Given the description of an element on the screen output the (x, y) to click on. 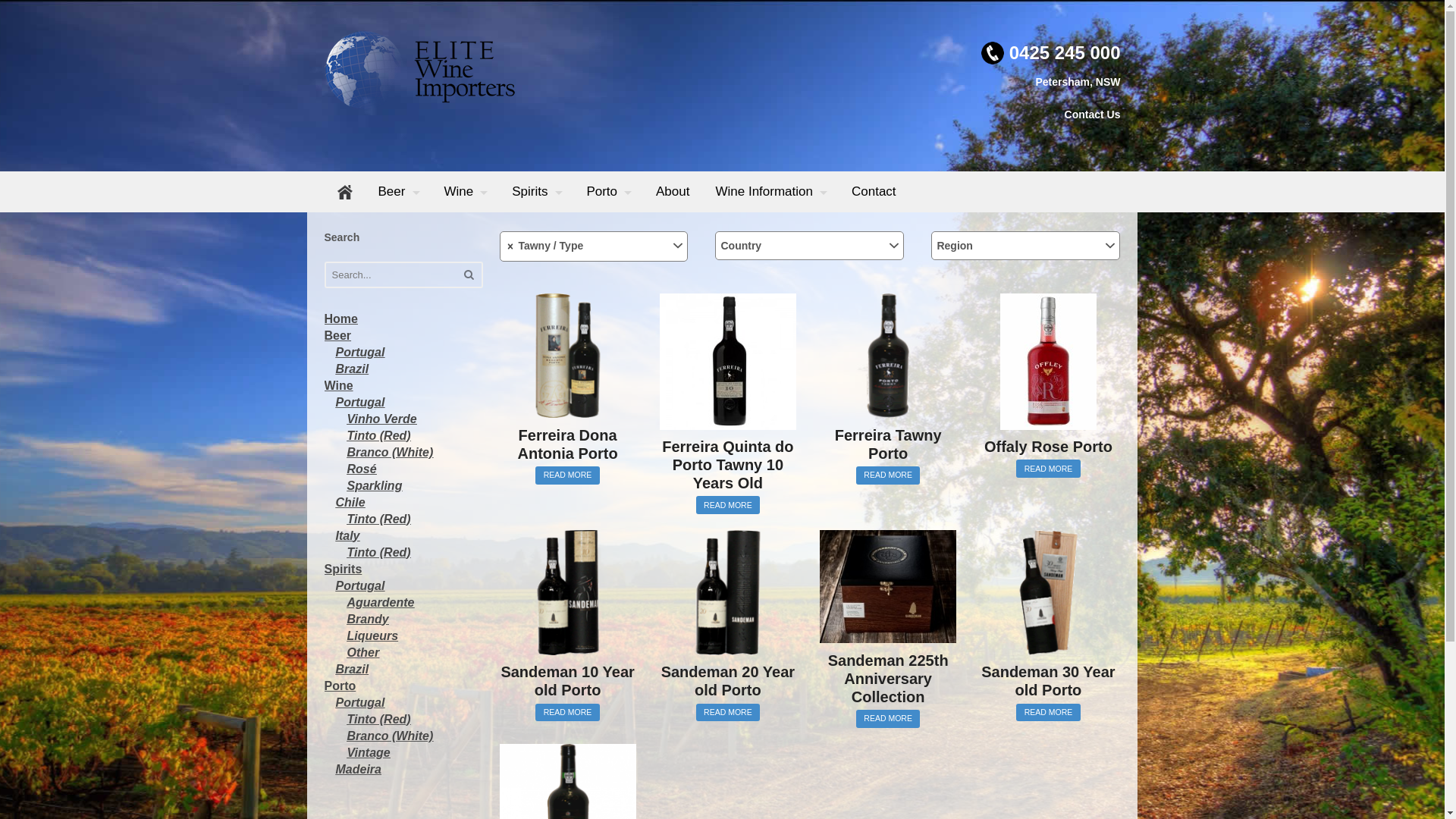
Porto Element type: text (340, 685)
Sandeman 225th Anniversary Collection Element type: text (887, 617)
Home Element type: hover (343, 191)
Spirits Element type: text (535, 191)
Branco (White) Element type: text (390, 451)
READ MORE Element type: text (567, 712)
Contact Us Element type: text (1092, 114)
Tinto (Red) Element type: text (379, 552)
Other Element type: text (363, 652)
Liqueurs Element type: text (372, 635)
Importers of Portuguese Wines into Australia Element type: hover (419, 100)
READ MORE Element type: text (888, 475)
Sandeman 20 Year old Porto Element type: text (727, 614)
Sandeman 10 Year old Porto Element type: text (566, 614)
Brazil Element type: text (351, 668)
Home Element type: text (340, 318)
Chile Element type: text (349, 501)
READ MORE Element type: text (728, 504)
READ MORE Element type: text (728, 712)
Portugal Element type: text (359, 401)
Ferreira Tawny Porto Element type: text (887, 377)
Italy Element type: text (347, 535)
Wine Element type: text (464, 191)
Sandeman 30 Year old Porto Element type: text (1047, 614)
About Element type: text (672, 191)
Portugal Element type: text (359, 702)
Brandy Element type: text (368, 618)
Ferreira Quinta do Porto Tawny 10 Years Old Element type: text (727, 392)
Branco (White) Element type: text (390, 735)
Portugal Element type: text (359, 585)
Beer Element type: text (337, 335)
Vinho Verde Element type: text (382, 418)
Tinto (Red) Element type: text (379, 718)
0425 245 000 Element type: text (1064, 52)
Contact Element type: text (873, 191)
Wine Element type: text (338, 385)
Spirits Element type: text (343, 568)
READ MORE Element type: text (567, 475)
Tinto (Red) Element type: text (379, 435)
Beer Element type: text (398, 191)
Madeira Element type: text (357, 768)
Vintage Element type: text (368, 752)
Brazil Element type: text (351, 368)
Tinto (Red) Element type: text (379, 518)
Ferreira Dona Antonia Porto Element type: text (566, 377)
READ MORE Element type: text (1048, 712)
Wine Information Element type: text (770, 191)
READ MORE Element type: text (888, 718)
READ MORE Element type: text (1048, 468)
Offaly Rose Porto Element type: text (1047, 374)
Portugal Element type: text (359, 351)
Porto Element type: text (608, 191)
Aguardente Element type: text (380, 602)
Sparkling Element type: text (374, 485)
